Given the description of an element on the screen output the (x, y) to click on. 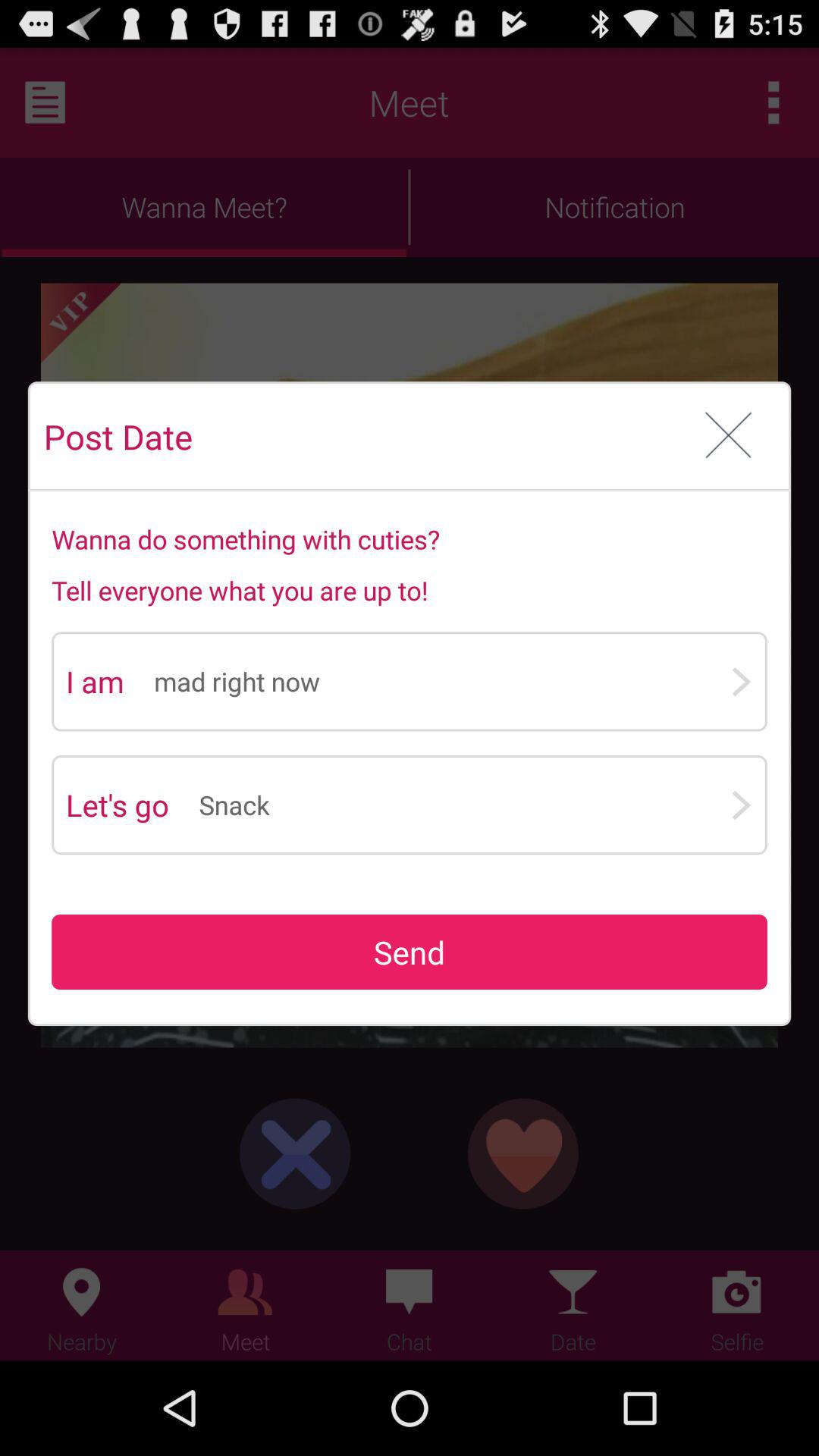
turn off the icon below tell everyone what app (442, 681)
